Given the description of an element on the screen output the (x, y) to click on. 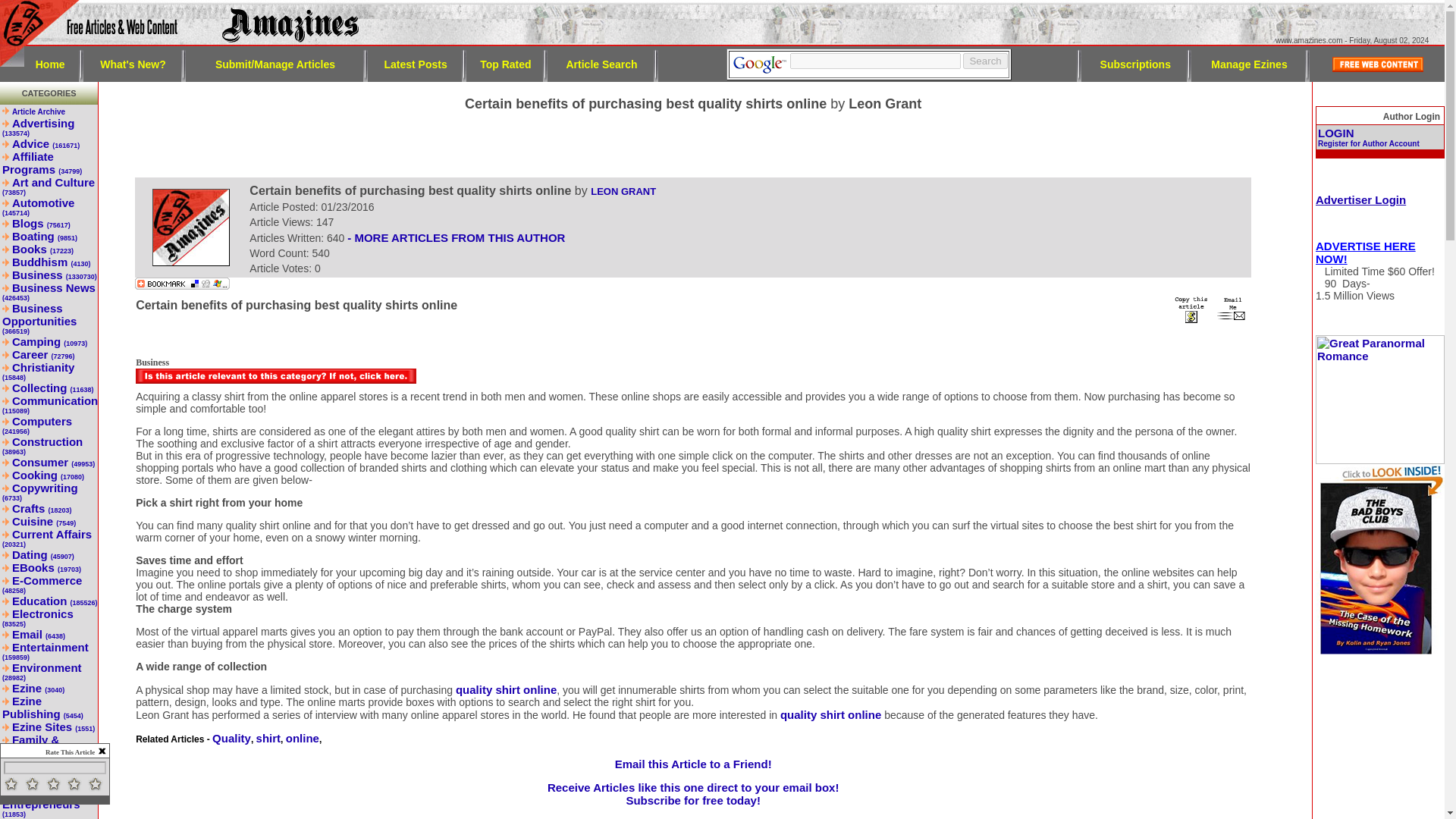
Top Rated (505, 63)
What's New? (132, 63)
Manage Ezines (1249, 63)
Home (49, 63)
Search (984, 60)
Bookmark using any bookmark manager! (182, 285)
Latest Posts (415, 63)
Search (984, 60)
Subscriptions (1135, 63)
Article Archive (38, 110)
Article Search (601, 63)
